Given the description of an element on the screen output the (x, y) to click on. 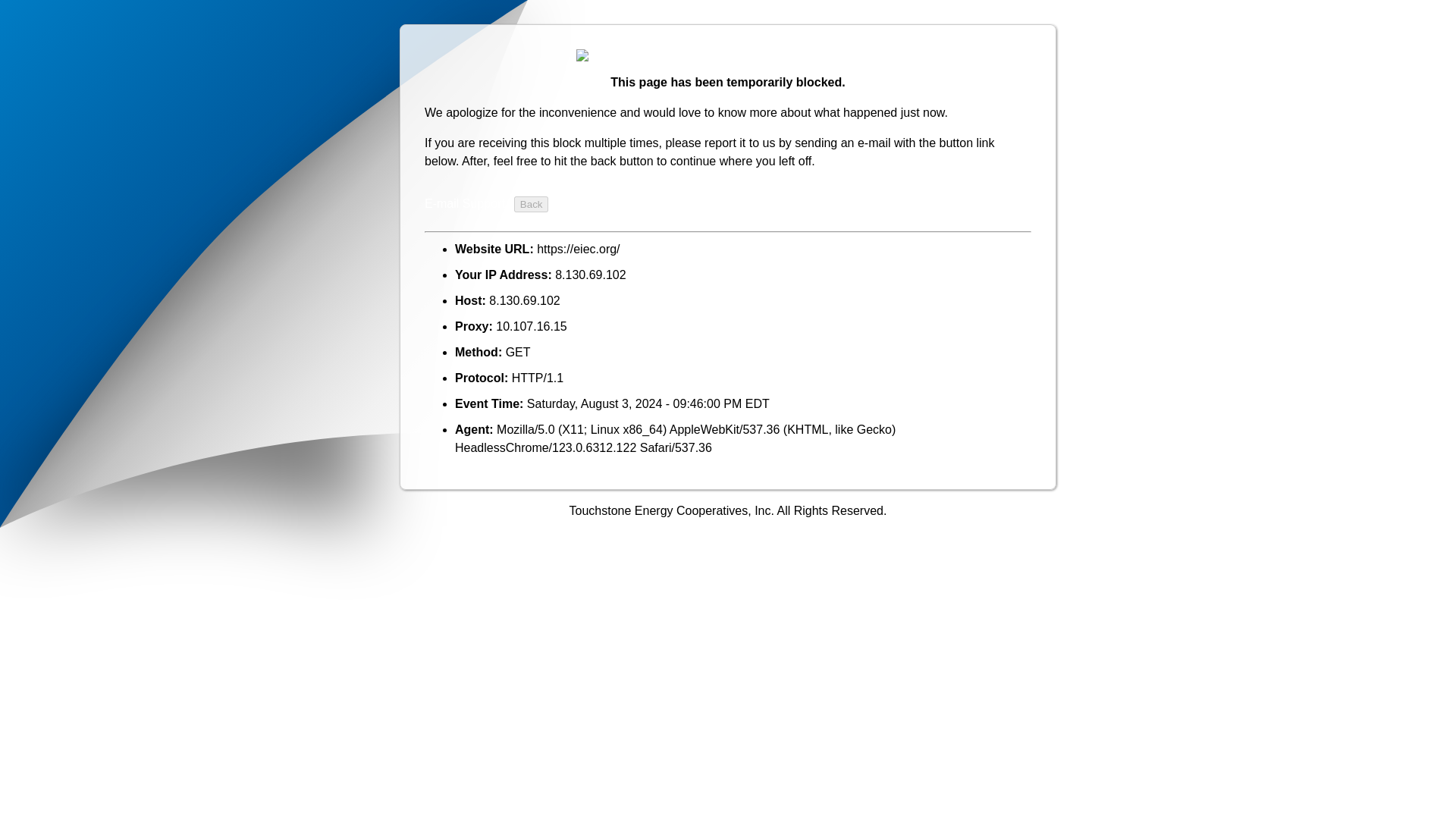
Back (530, 204)
E-mail Support (465, 203)
